Given the description of an element on the screen output the (x, y) to click on. 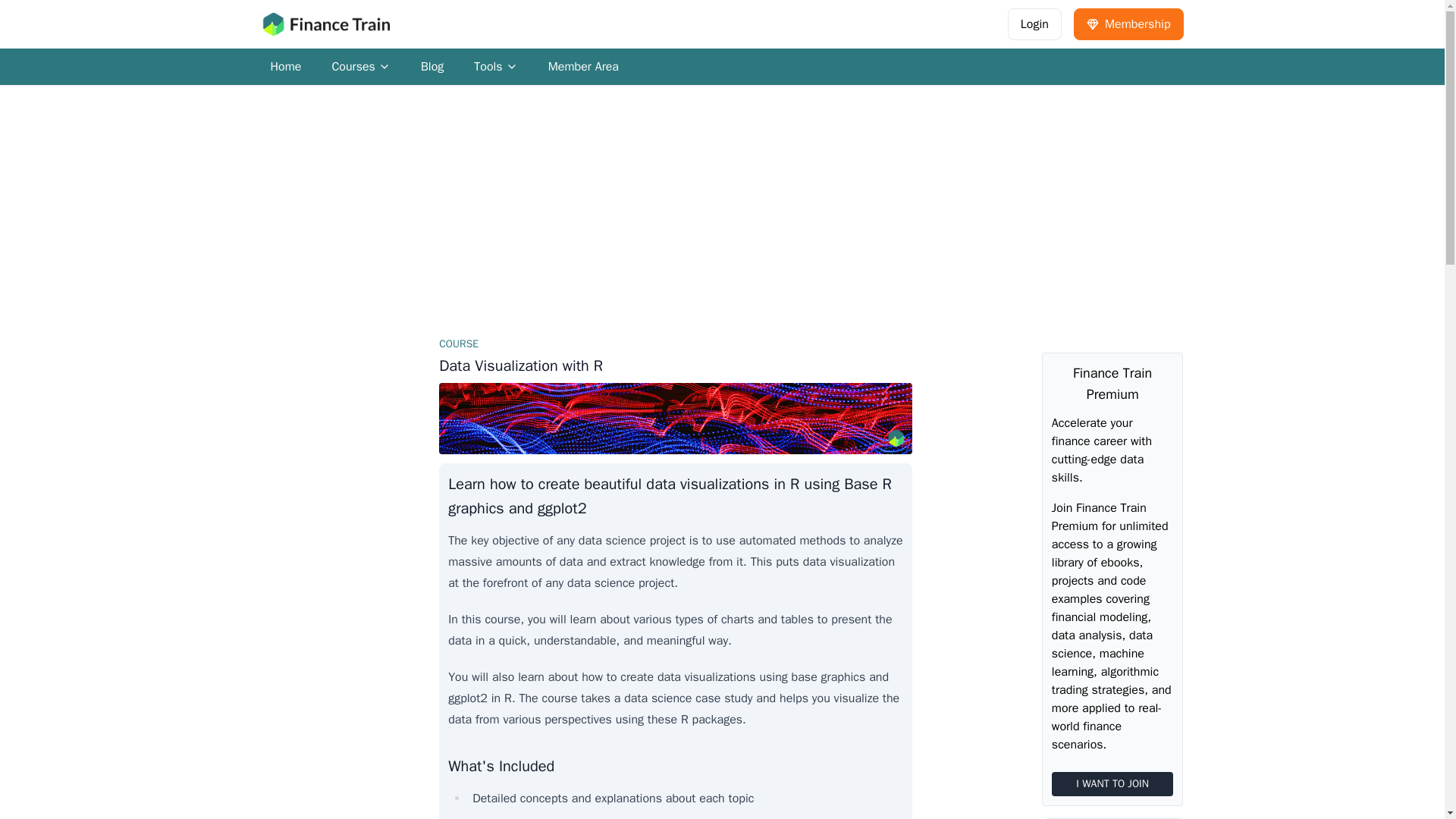
Home (285, 66)
Advertisement (360, 66)
Blog (1034, 24)
Membership (432, 66)
Member Area (1128, 24)
